Given the description of an element on the screen output the (x, y) to click on. 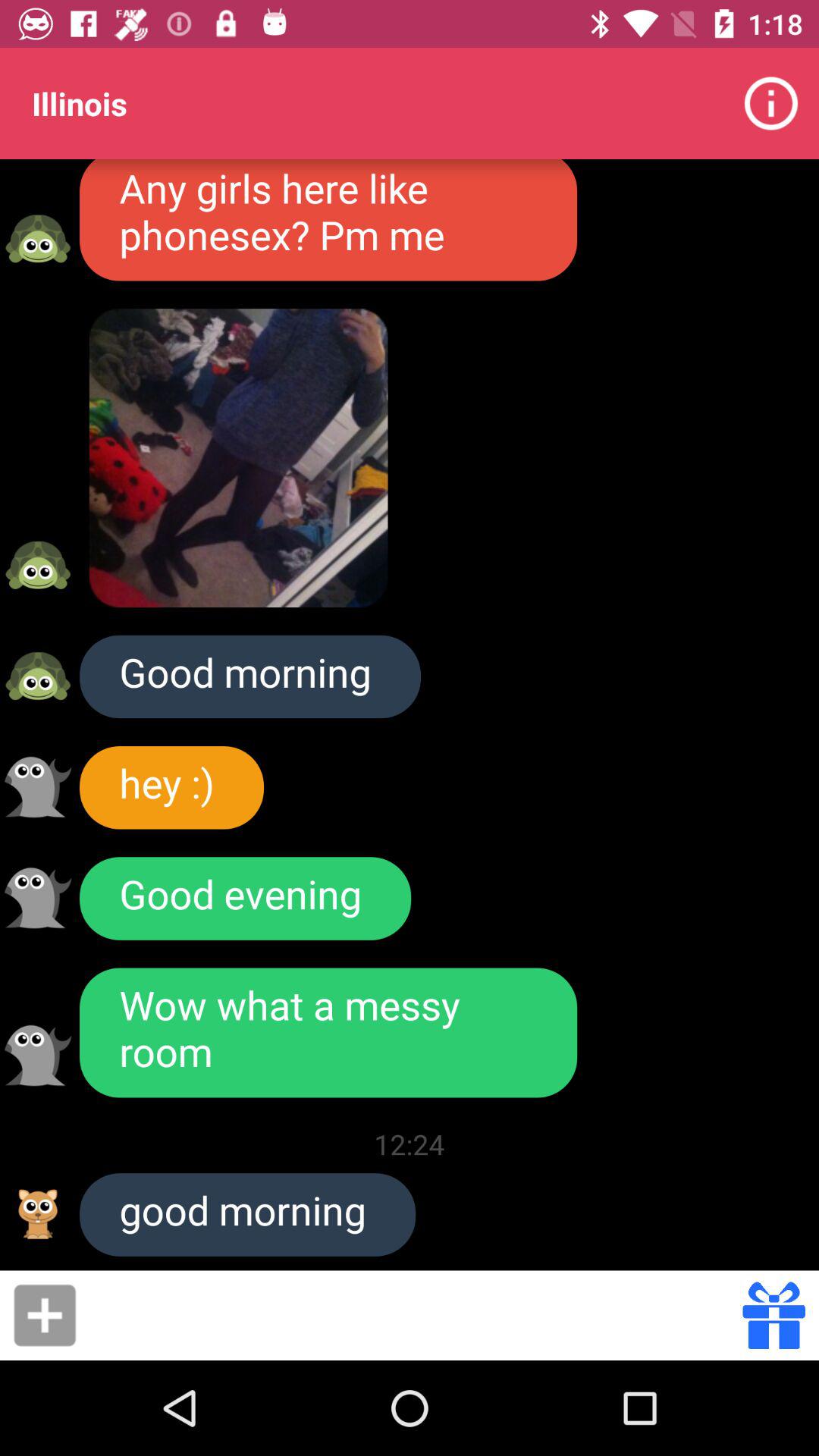
open the contact information (38, 238)
